Given the description of an element on the screen output the (x, y) to click on. 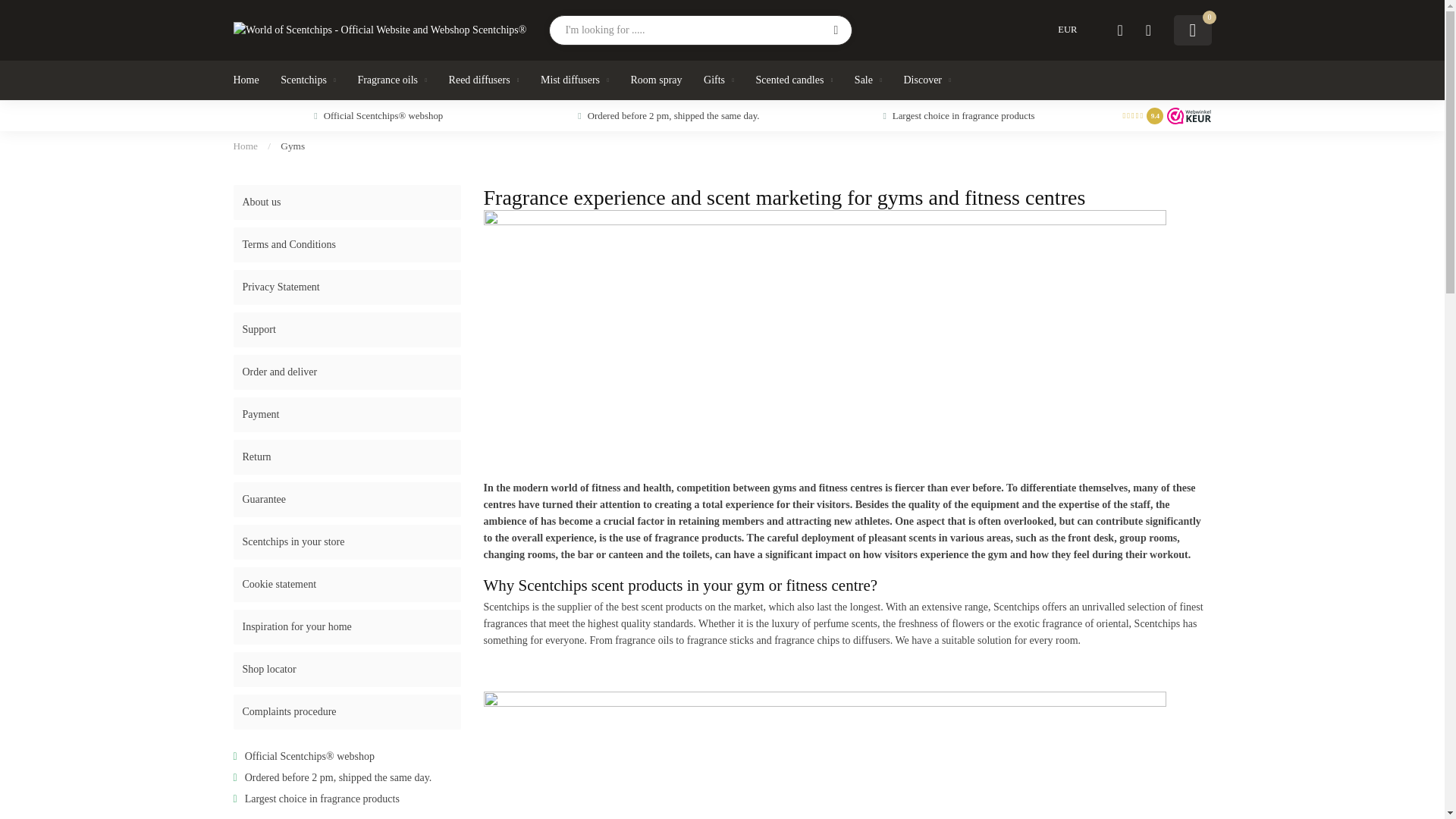
0 (1192, 30)
Room spray (656, 79)
Scentchips (308, 79)
Mist diffusers (574, 79)
Reed diffusers (483, 79)
Home (245, 145)
Fragrance oils (391, 79)
Scented candles (793, 79)
